Given the description of an element on the screen output the (x, y) to click on. 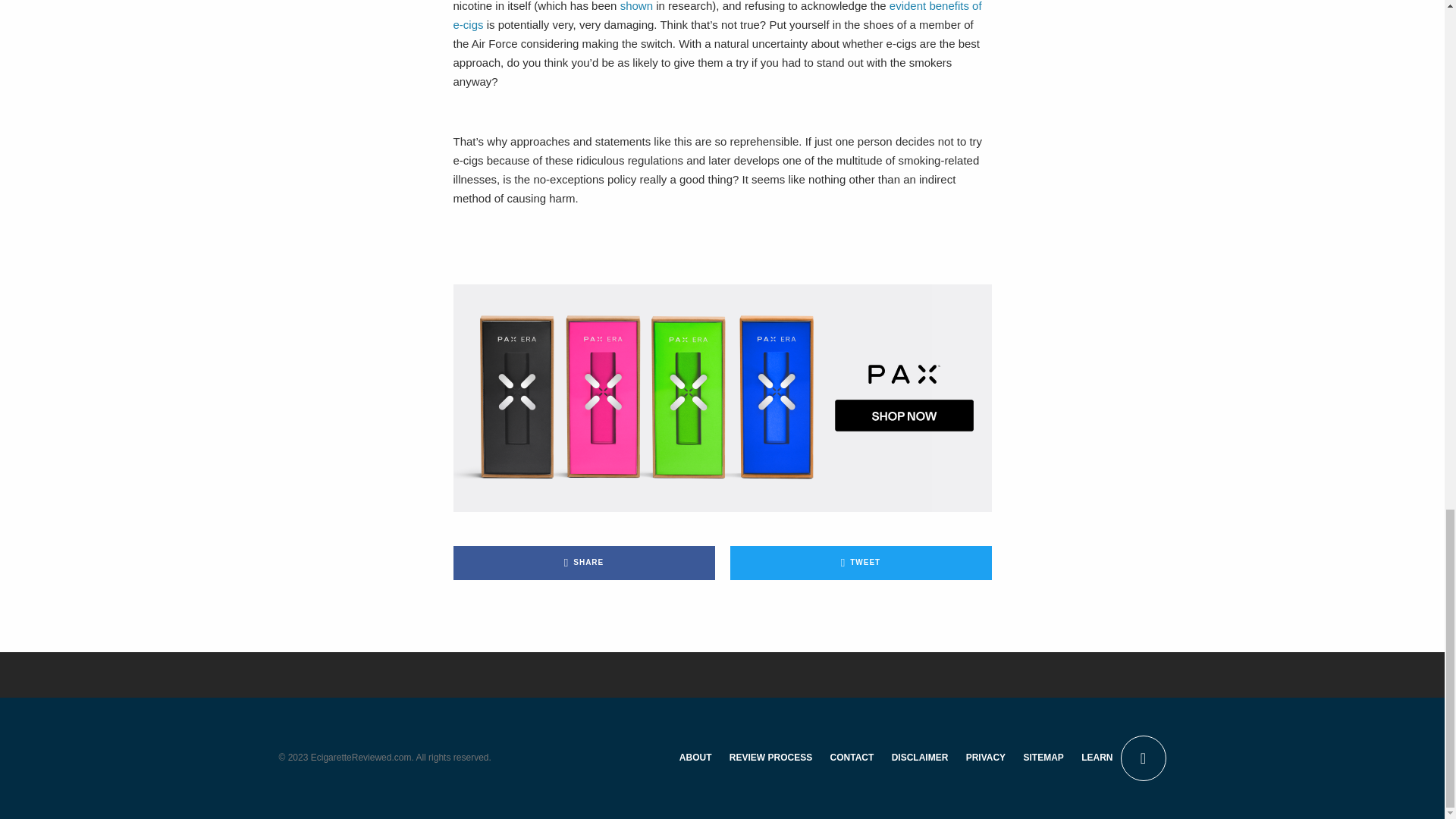
shown (636, 6)
Benefits of electronic cigarettes (716, 15)
evident benefits of e-cigs (716, 15)
